Given the description of an element on the screen output the (x, y) to click on. 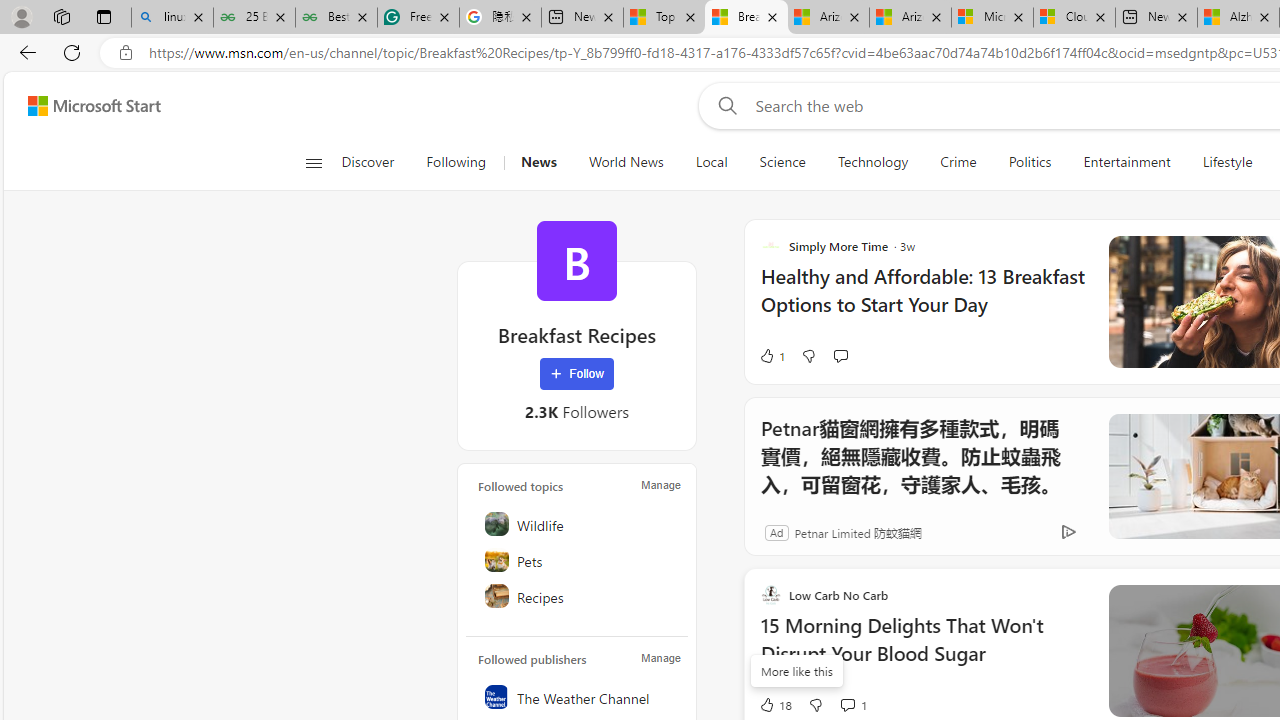
Lifestyle (1227, 162)
View comments 1 Comment (847, 704)
Ad (776, 532)
Ad Choice (1068, 532)
Science (782, 162)
View comments 1 Comment (852, 704)
News (537, 162)
Discover (375, 162)
World News (625, 162)
Start the conversation (840, 355)
New tab (1156, 17)
Follow (577, 373)
Free AI Writing Assistance for Students | Grammarly (418, 17)
Technology (872, 162)
